Given the description of an element on the screen output the (x, y) to click on. 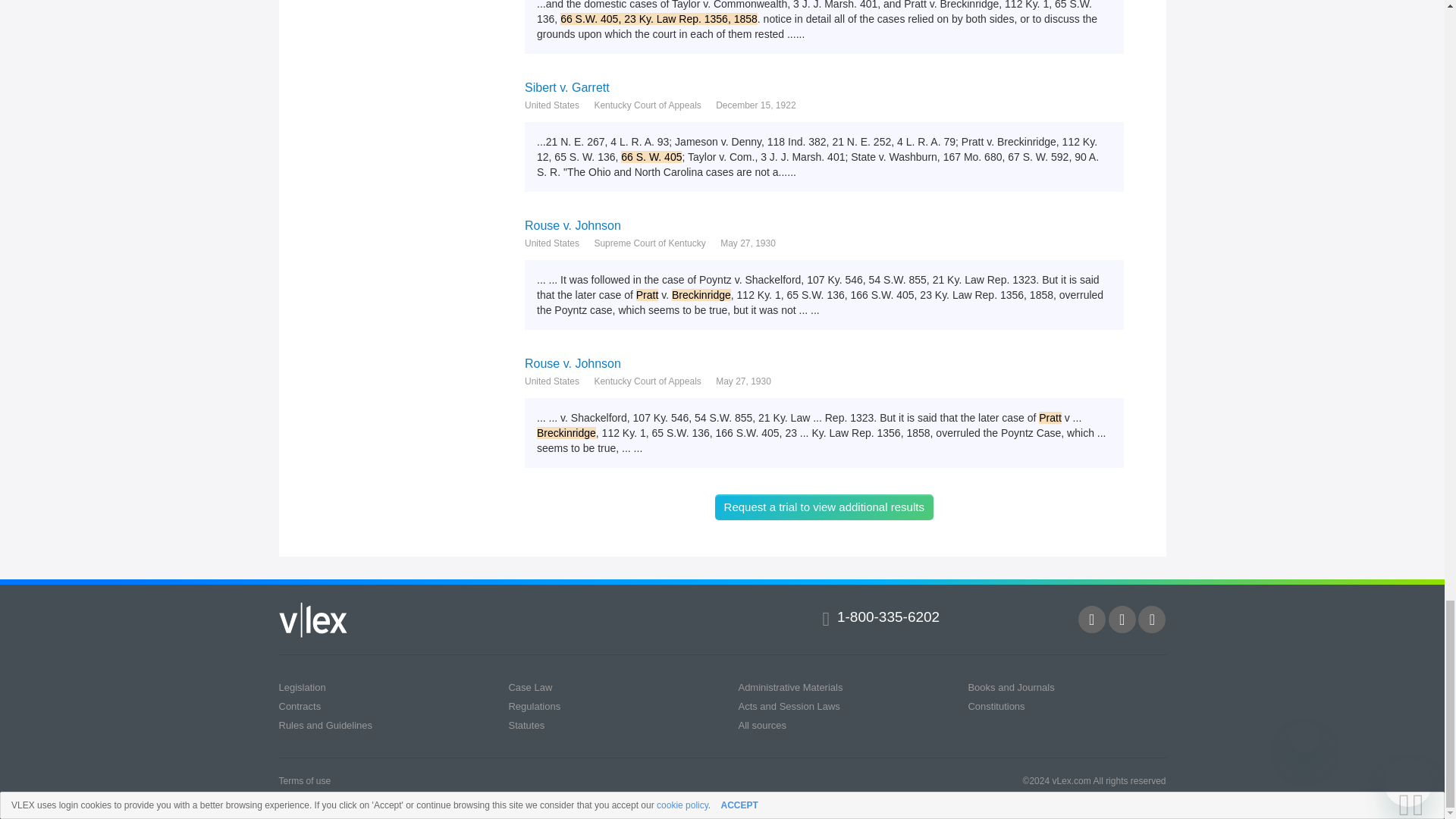
December 15, 1922 (755, 105)
vLex (313, 619)
May 27, 1930 (748, 242)
Contracts (300, 706)
Legislation (302, 686)
Case Law (529, 686)
Sibert v. Garrett (824, 87)
Kentucky Court of Appeals (647, 381)
United States (551, 381)
Rouse v. Johnson (824, 225)
Rules and Guidelines (325, 725)
United States (551, 242)
United States (551, 105)
Rouse v. Johnson (824, 363)
Kentucky Court of Appeals (647, 105)
